Given the description of an element on the screen output the (x, y) to click on. 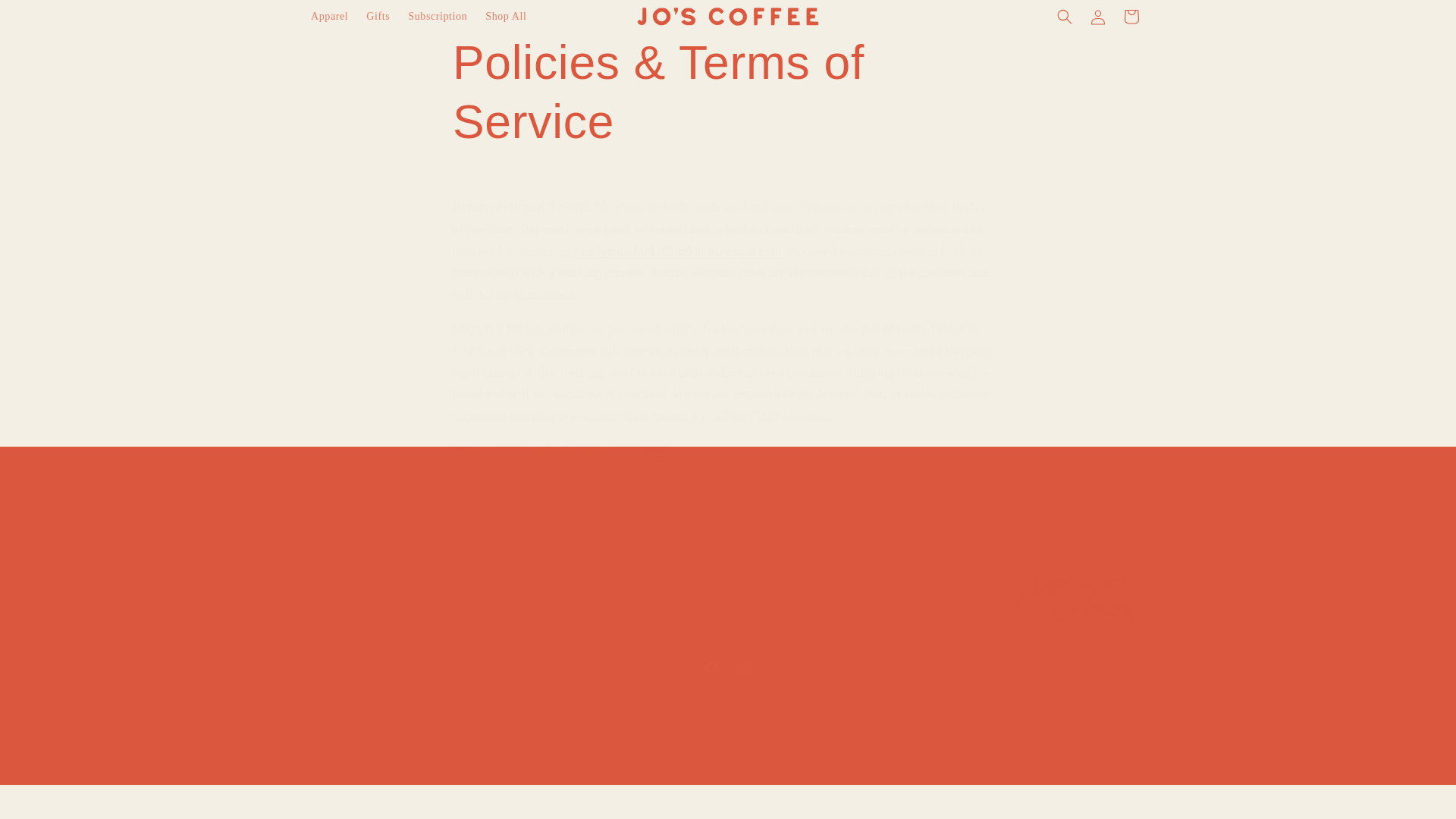
Shipping policy (652, 765)
Shop All (505, 16)
Gifts (377, 16)
Cart (1131, 16)
Back to Jo's Coffee (356, 597)
Bunkhouse Group (352, 570)
Jo's Coffee Shop (727, 667)
Instagram (376, 764)
Refund policy (744, 667)
Log in (580, 765)
Facebook (1098, 16)
Apparel (711, 667)
Skip to content (328, 16)
here (46, 18)
